Given the description of an element on the screen output the (x, y) to click on. 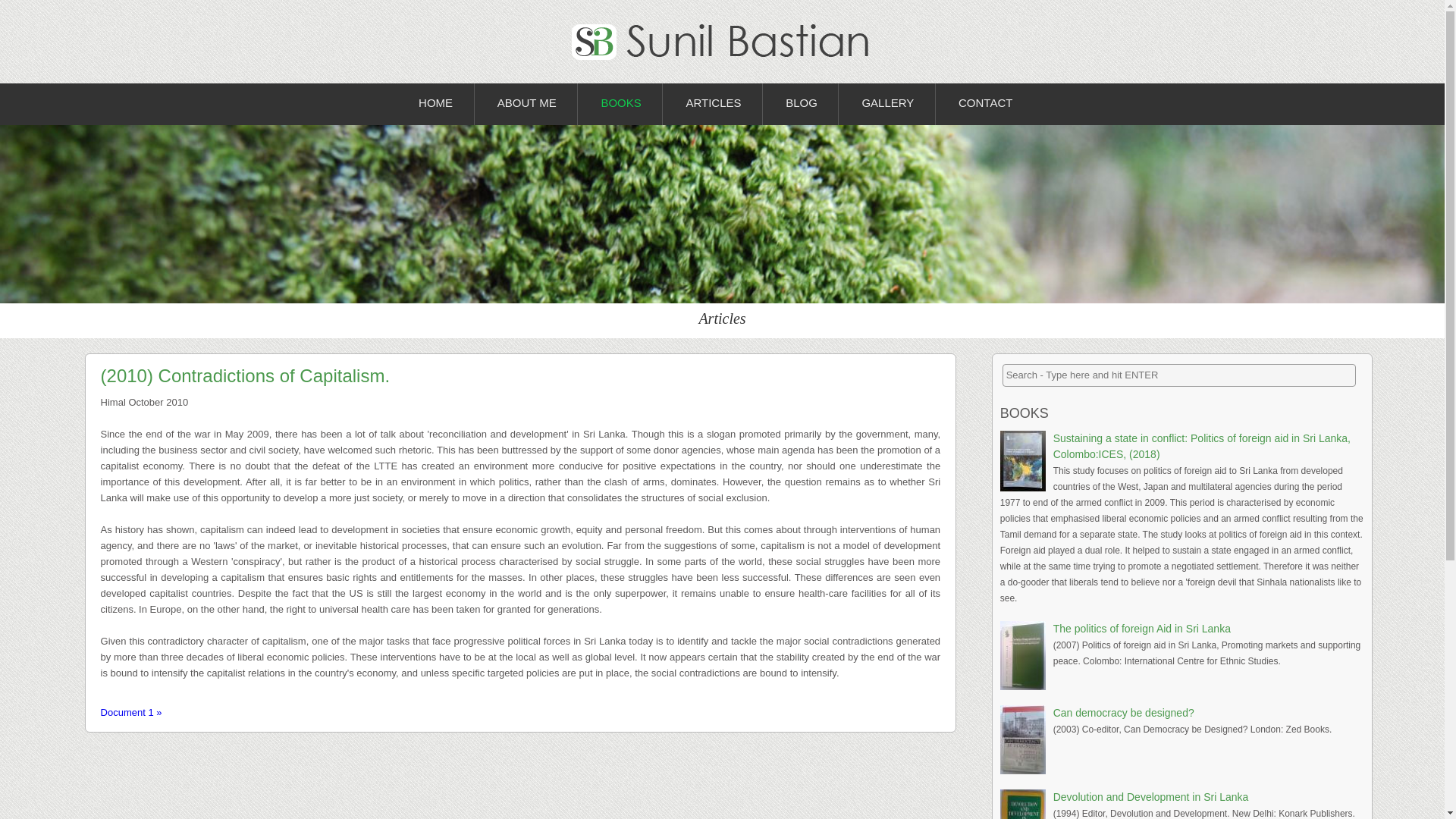
ARTICLES (712, 104)
ABOUT ME (526, 104)
The politics of foreign Aid in Sri Lanka (1141, 628)
Can democracy be designed? (1122, 712)
BOOKS (1024, 412)
GALLERY (887, 104)
BOOKS (619, 104)
CONTACT (984, 104)
HOME (435, 104)
Devolution and Development in Sri Lanka (1150, 797)
BLOG (800, 104)
